Given the description of an element on the screen output the (x, y) to click on. 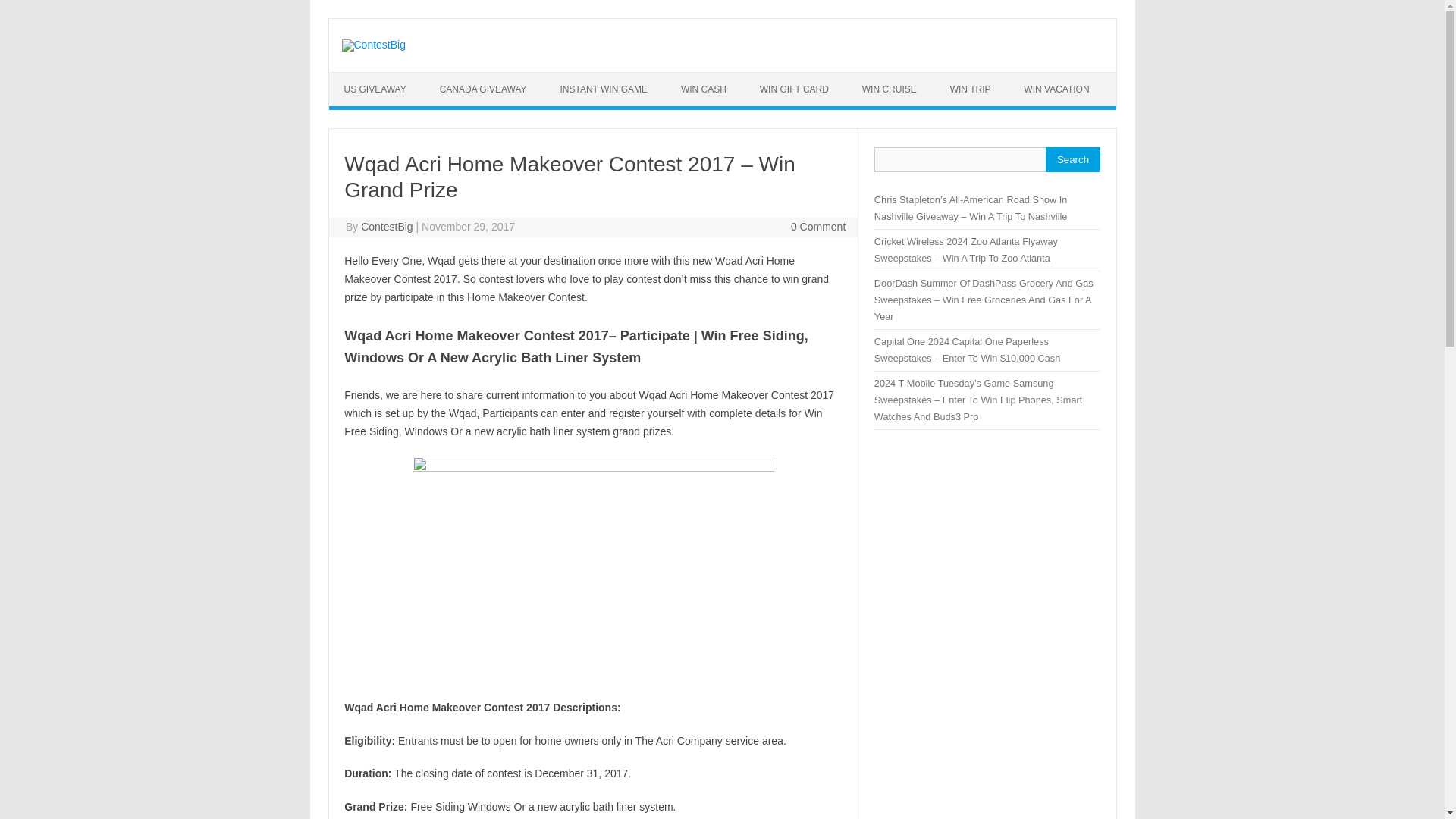
Search (1072, 159)
US GIVEAWAY (375, 89)
Posts by ContestBig (386, 226)
INSTANT WIN GAME (603, 89)
WIN CRUISE (889, 89)
WIN VACATION (1056, 89)
Search (1072, 159)
CANADA GIVEAWAY (483, 89)
